Given the description of an element on the screen output the (x, y) to click on. 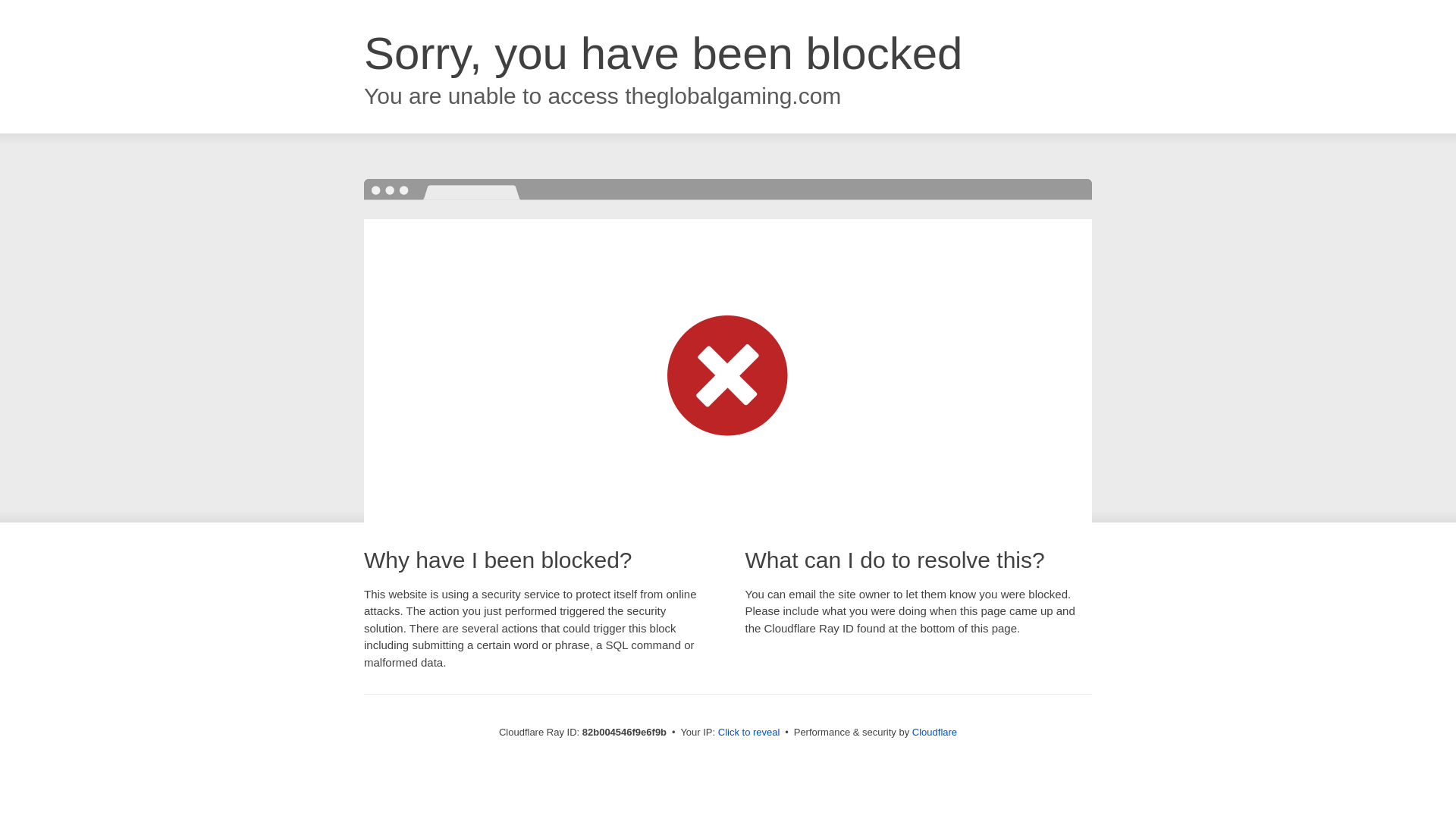
Click to reveal Element type: text (749, 732)
Cloudflare Element type: text (934, 731)
